Given the description of an element on the screen output the (x, y) to click on. 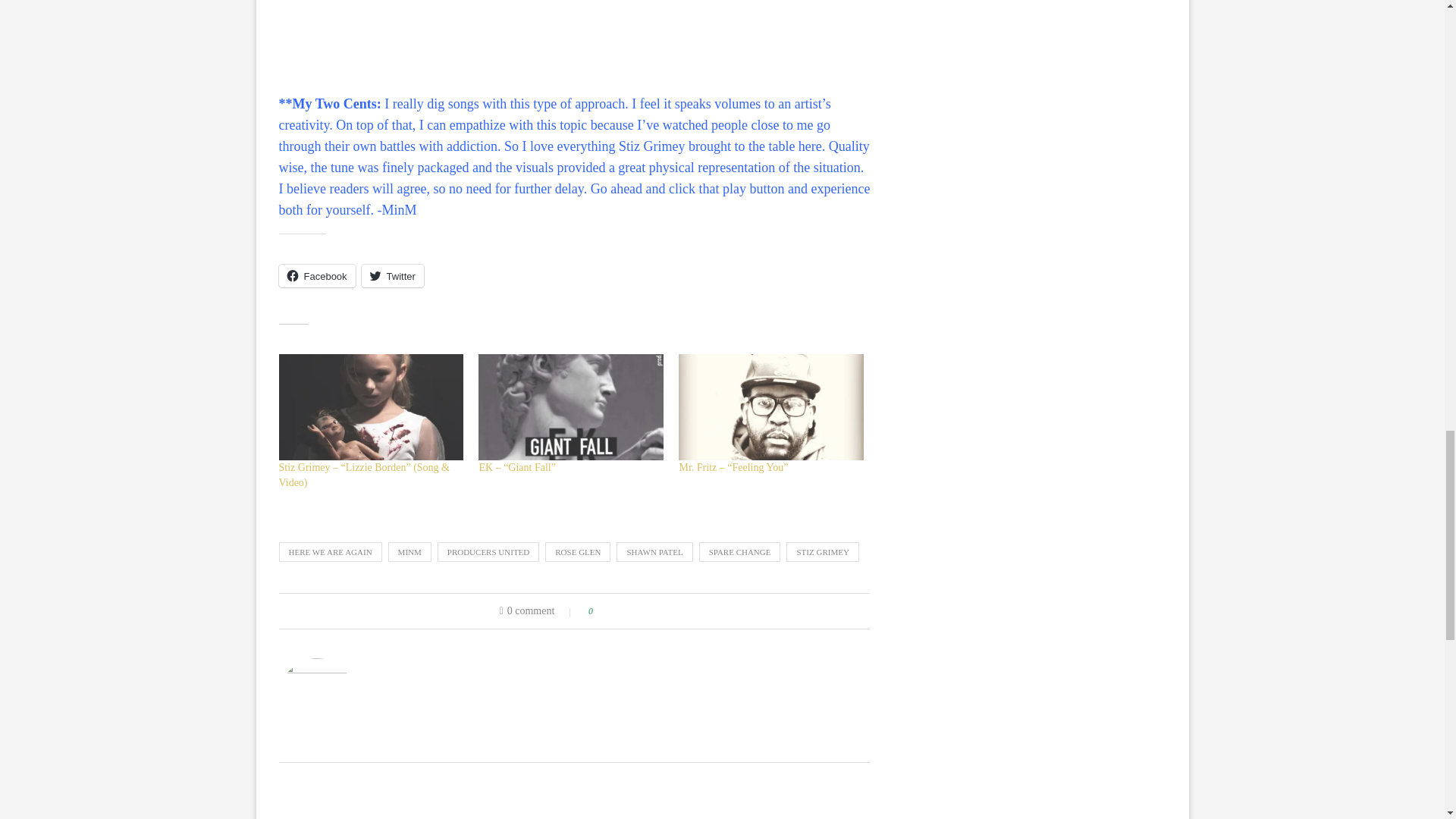
Facebook (317, 275)
Click to share on Twitter (392, 275)
HERE WE ARE AGAIN (330, 551)
Click to share on Facebook (317, 275)
Author Miracle (394, 664)
Twitter (392, 275)
